Given the description of an element on the screen output the (x, y) to click on. 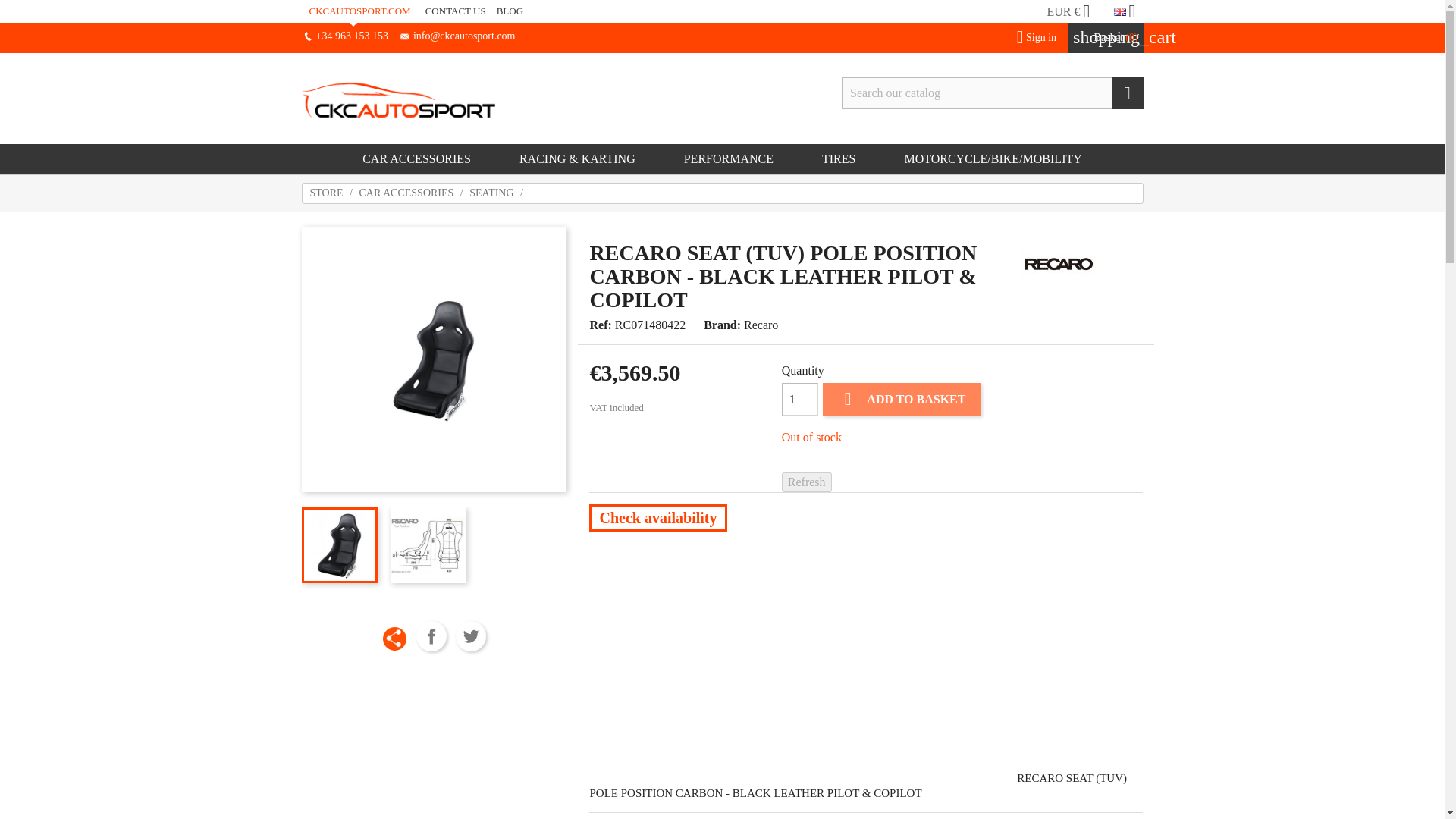
Tweet (470, 635)
1 (799, 399)
CAR ACCESSORIES (417, 159)
Refresh (806, 482)
Share (431, 635)
BLOG (509, 10)
Contact us (455, 10)
Log in to your customer account (1030, 37)
CONTACT US (455, 10)
